Given the description of an element on the screen output the (x, y) to click on. 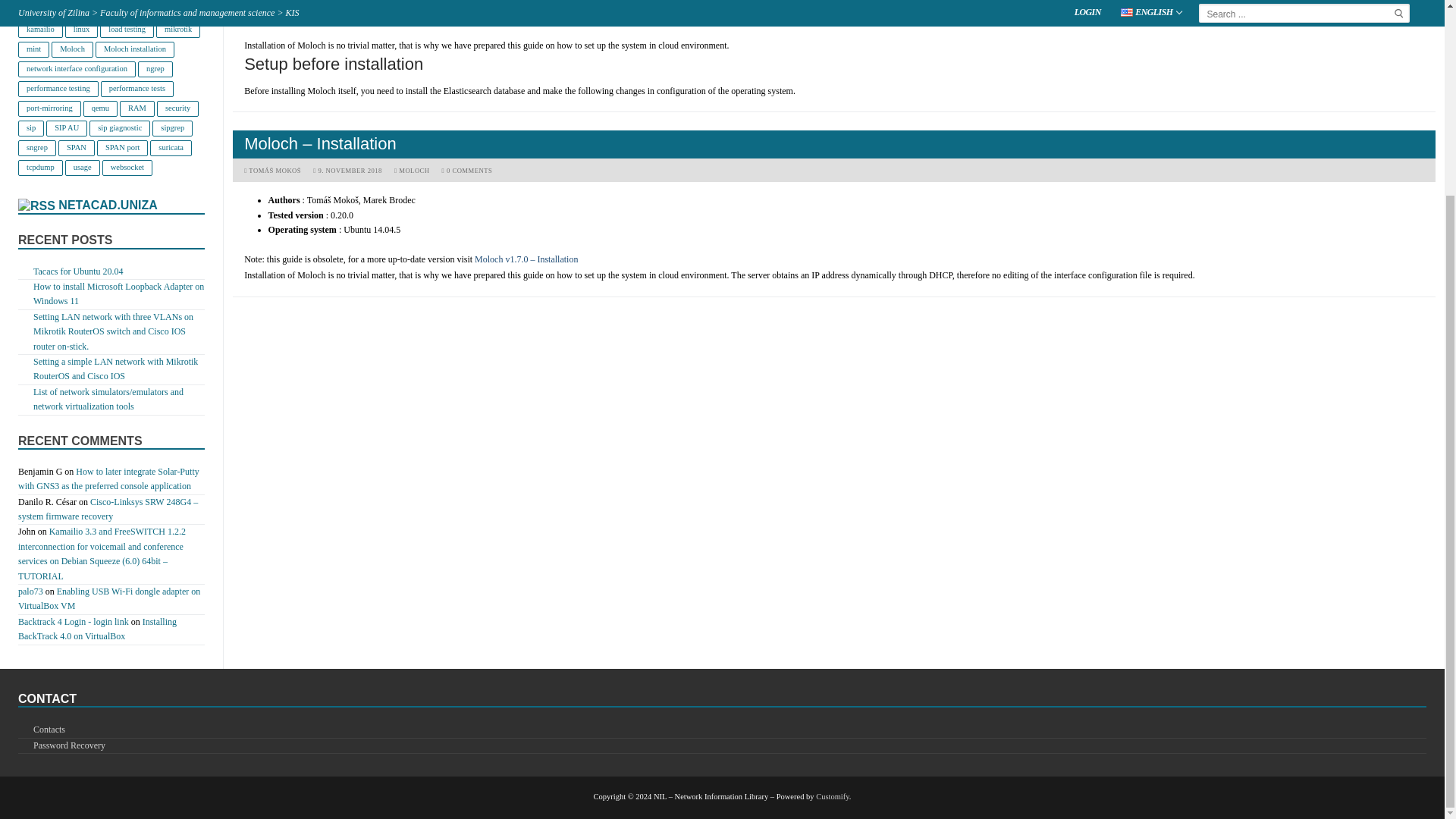
9. NOVEMBER 2018 (347, 170)
0 COMMENTS (467, 170)
MOLOCH (411, 170)
